Given the description of an element on the screen output the (x, y) to click on. 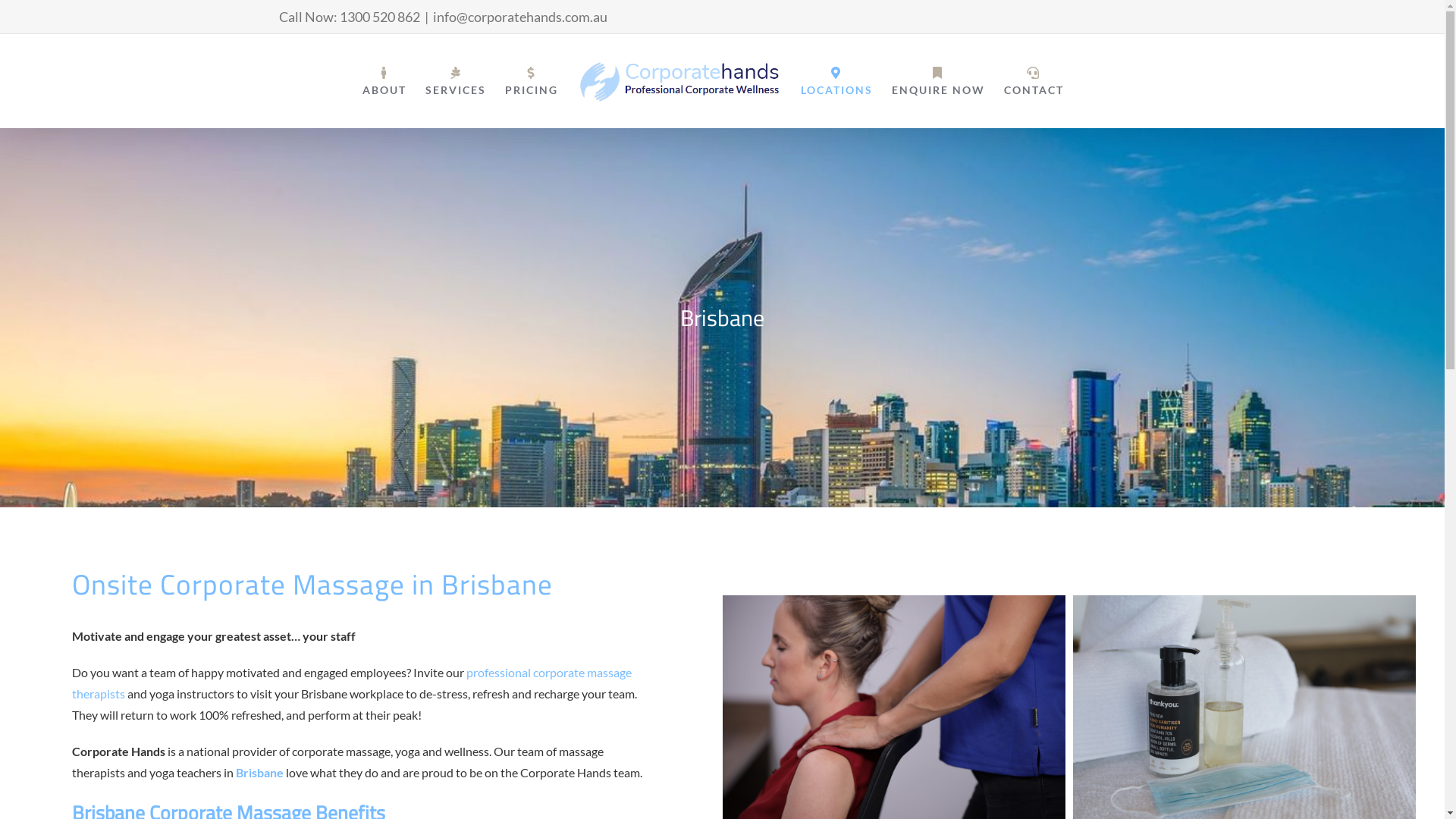
CONTACT Element type: text (1033, 80)
SERVICES Element type: text (454, 80)
1300 520 862 Element type: text (379, 16)
LOCATIONS Element type: text (836, 80)
info@corporatehands.com.au Element type: text (519, 16)
PRICING Element type: text (531, 80)
Brisbane Element type: text (259, 772)
ENQUIRE NOW Element type: text (938, 80)
ABOUT Element type: text (384, 80)
professional corporate massage therapists Element type: text (351, 682)
